Given the description of an element on the screen output the (x, y) to click on. 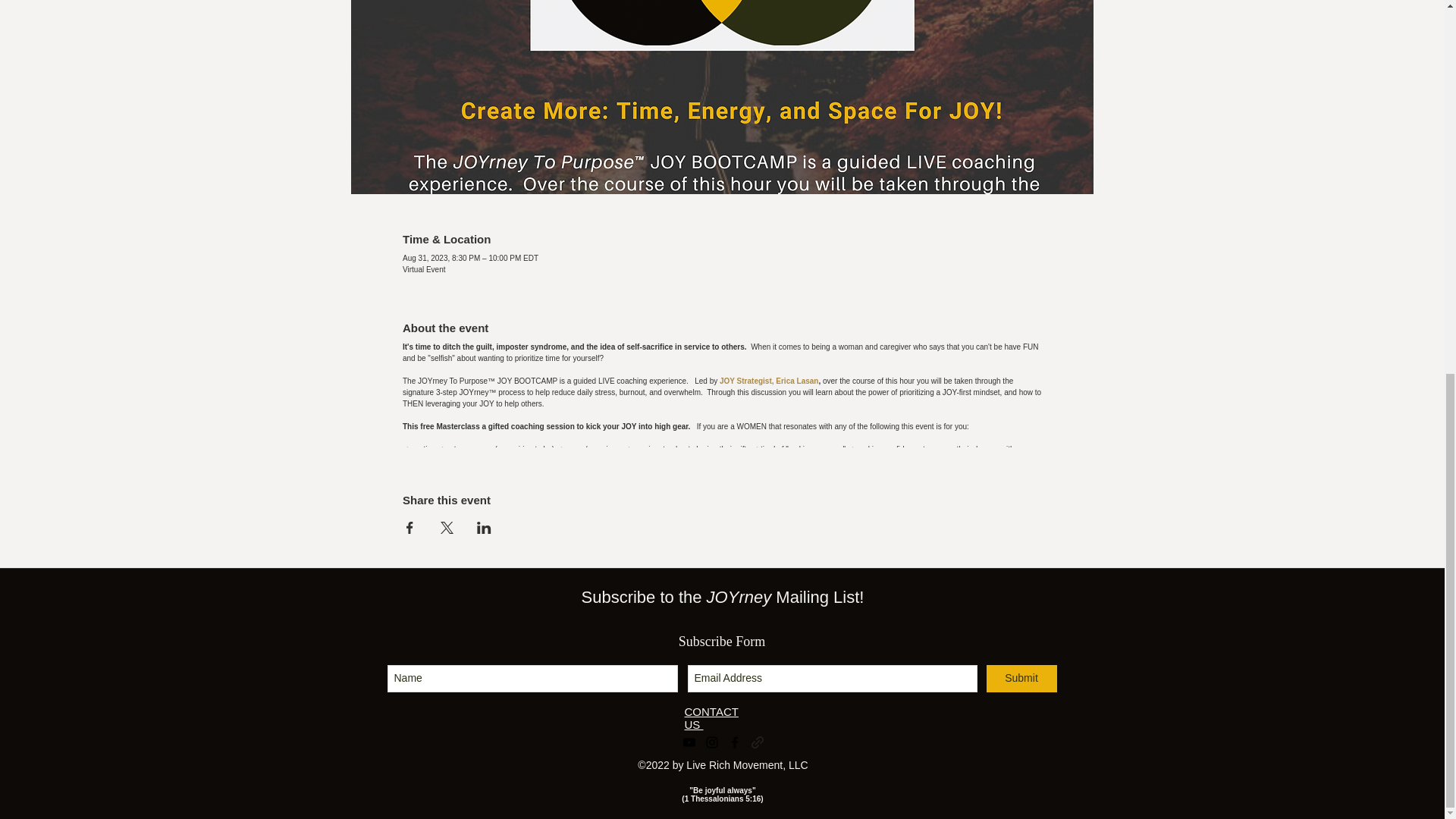
Submit (1021, 678)
JOY Strategist, Erica Lasan (768, 380)
CONTACT US  (711, 718)
